Given the description of an element on the screen output the (x, y) to click on. 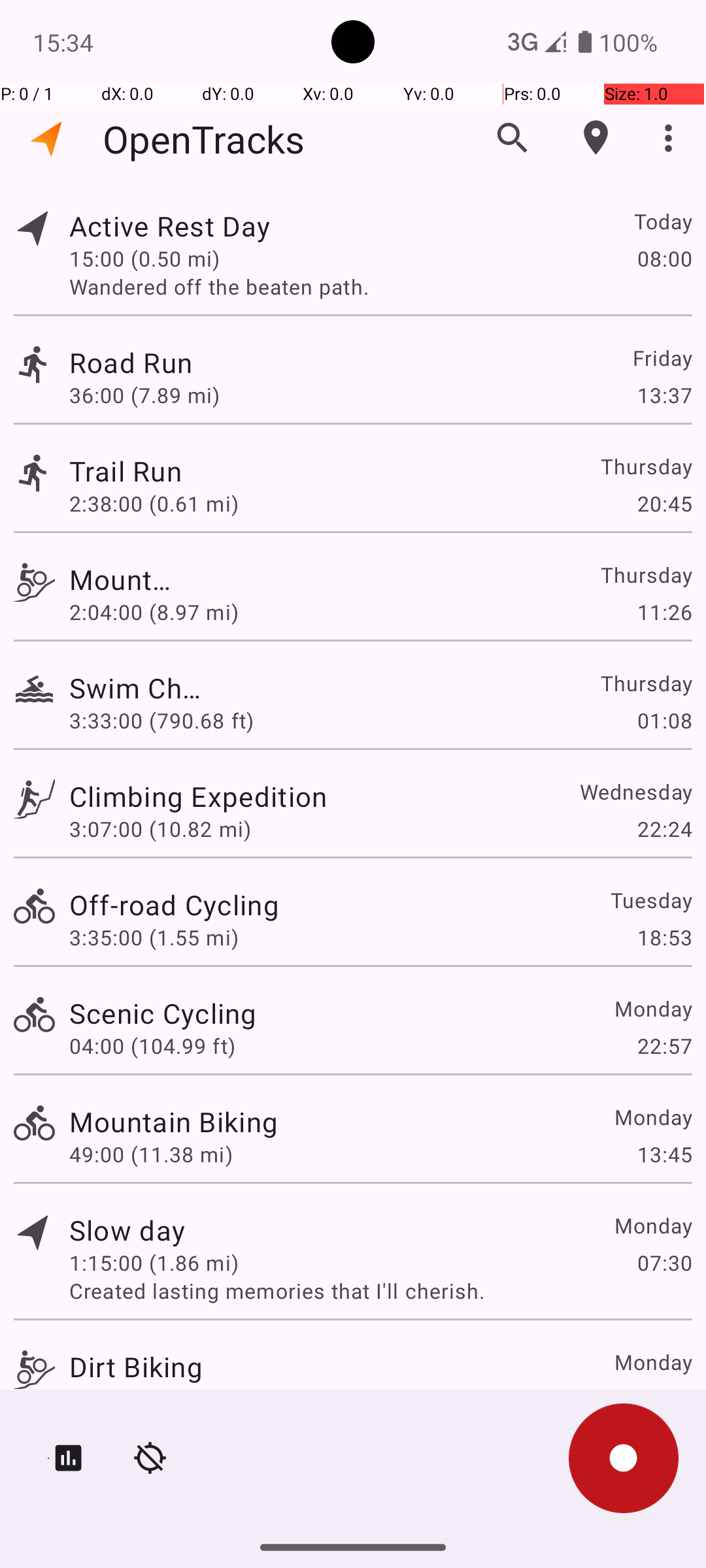
Active Rest Day Element type: android.widget.TextView (173, 225)
15:00 (0.50 mi) Element type: android.widget.TextView (153, 258)
08:00 Element type: android.widget.TextView (664, 258)
Wandered off the beaten path. Element type: android.widget.TextView (380, 286)
Road Run Element type: android.widget.TextView (162, 361)
36:00 (7.89 mi) Element type: android.widget.TextView (151, 394)
13:37 Element type: android.widget.TextView (664, 394)
Trail Run Element type: android.widget.TextView (173, 470)
2:38:00 (0.61 mi) Element type: android.widget.TextView (153, 503)
20:45 Element type: android.widget.TextView (664, 503)
Mountain Biking Excursion Element type: android.widget.TextView (126, 578)
2:04:00 (8.97 mi) Element type: android.widget.TextView (153, 611)
11:26 Element type: android.widget.TextView (664, 611)
Swim Challenge Element type: android.widget.TextView (135, 687)
3:33:00 (790.68 ft) Element type: android.widget.TextView (161, 720)
01:08 Element type: android.widget.TextView (664, 720)
Climbing Expedition Element type: android.widget.TextView (197, 795)
3:07:00 (10.82 mi) Element type: android.widget.TextView (159, 828)
22:24 Element type: android.widget.TextView (664, 828)
Off-road Cycling Element type: android.widget.TextView (173, 904)
3:35:00 (1.55 mi) Element type: android.widget.TextView (153, 937)
18:53 Element type: android.widget.TextView (664, 937)
Scenic Cycling Element type: android.widget.TextView (162, 1012)
04:00 (104.99 ft) Element type: android.widget.TextView (151, 1045)
22:57 Element type: android.widget.TextView (664, 1045)
Mountain Biking Element type: android.widget.TextView (173, 1121)
49:00 (11.38 mi) Element type: android.widget.TextView (150, 1154)
13:45 Element type: android.widget.TextView (664, 1154)
Slow day Element type: android.widget.TextView (126, 1229)
1:15:00 (1.86 mi) Element type: android.widget.TextView (153, 1262)
07:30 Element type: android.widget.TextView (664, 1262)
Created lasting memories that I'll cherish. Element type: android.widget.TextView (380, 1290)
Dirt Biking Element type: android.widget.TextView (135, 1366)
4:17:00 (1.05 mi) Element type: android.widget.TextView (153, 1399)
03:24 Element type: android.widget.TextView (664, 1399)
